Given the description of an element on the screen output the (x, y) to click on. 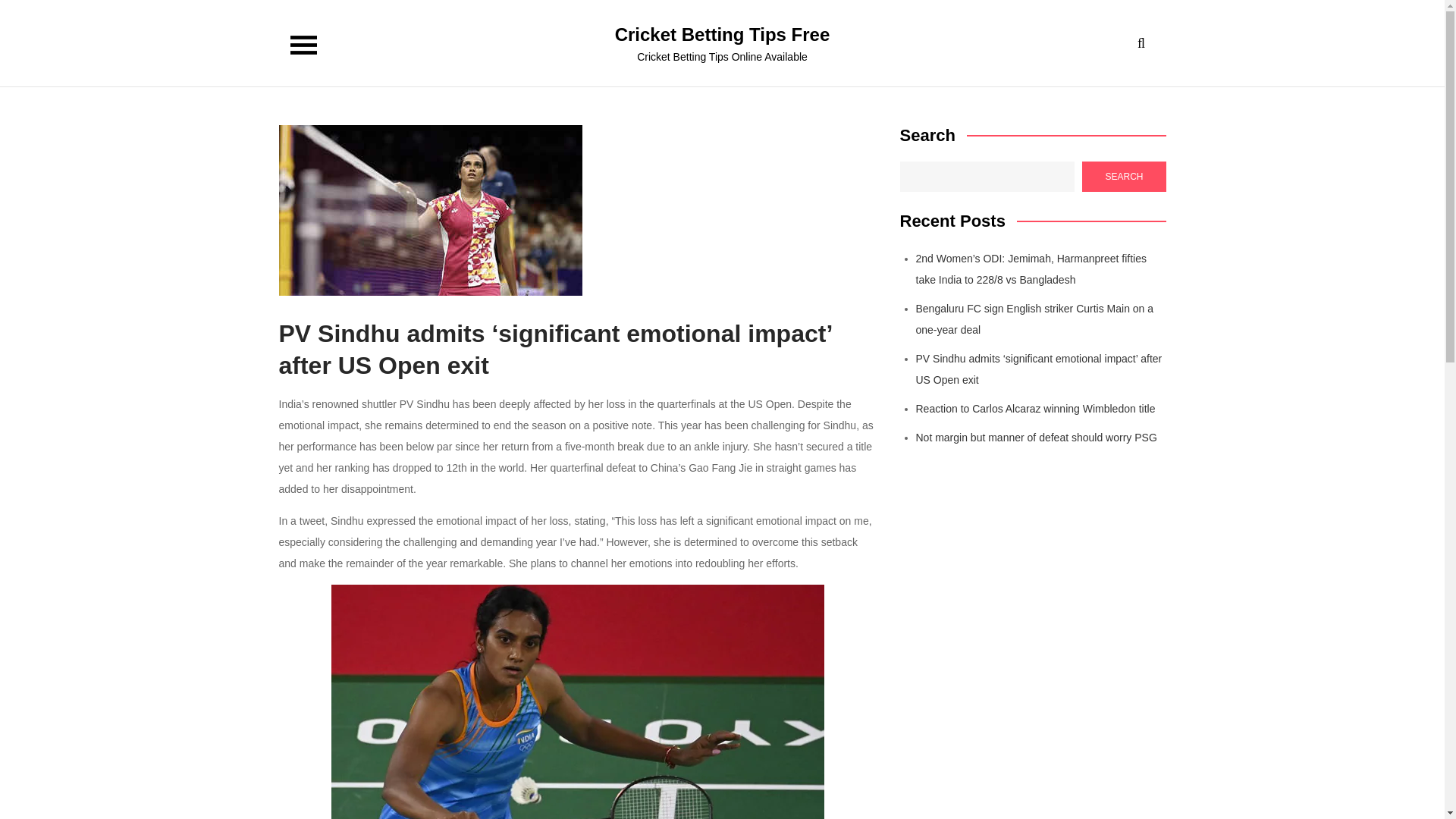
Reaction to Carlos Alcaraz winning Wimbledon title (1035, 408)
SEARCH (1123, 176)
Cricket Betting Tips Free (721, 34)
Not margin but manner of defeat should worry PSG (1036, 437)
